Given the description of an element on the screen output the (x, y) to click on. 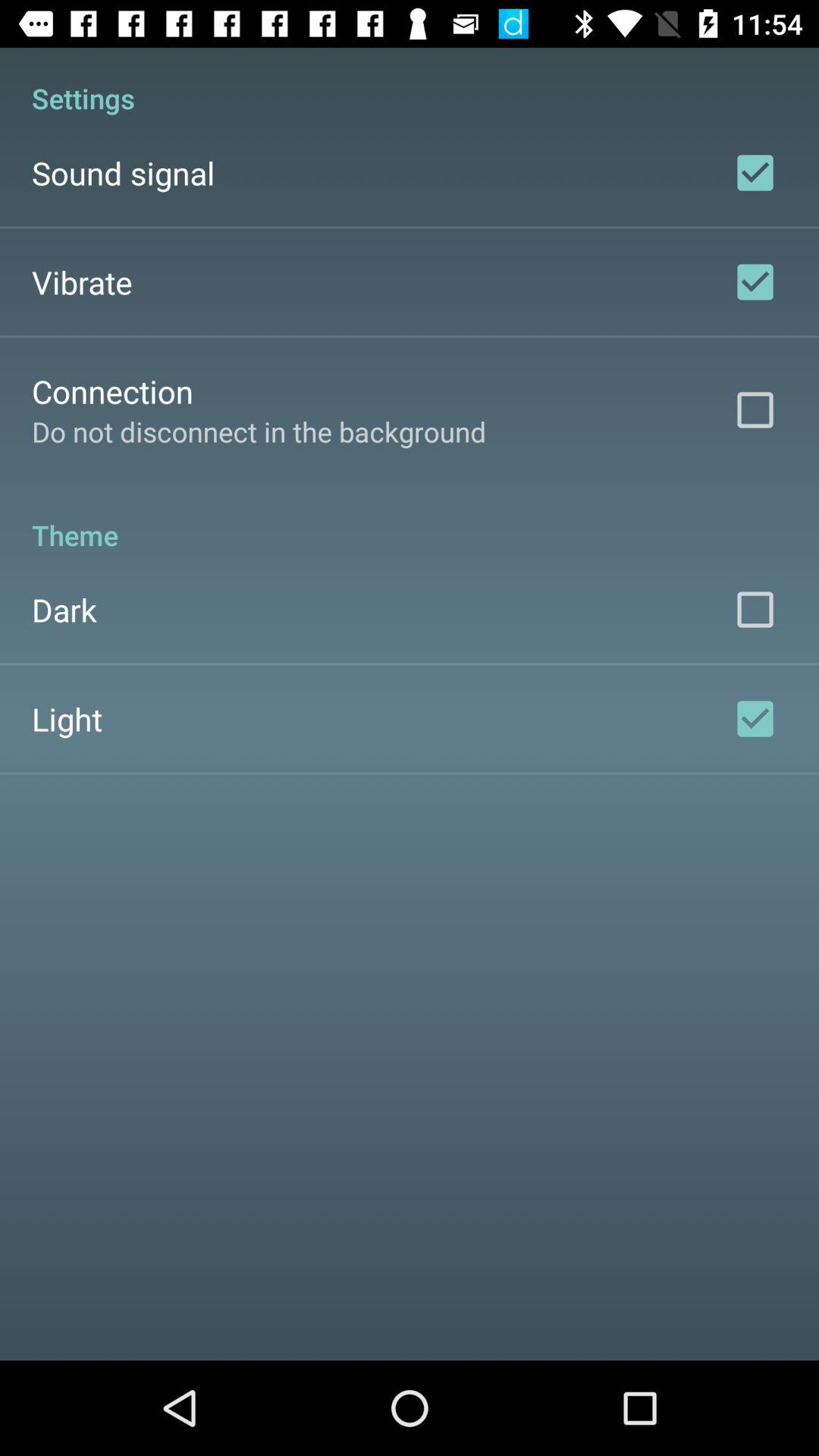
scroll to the dark icon (63, 609)
